Given the description of an element on the screen output the (x, y) to click on. 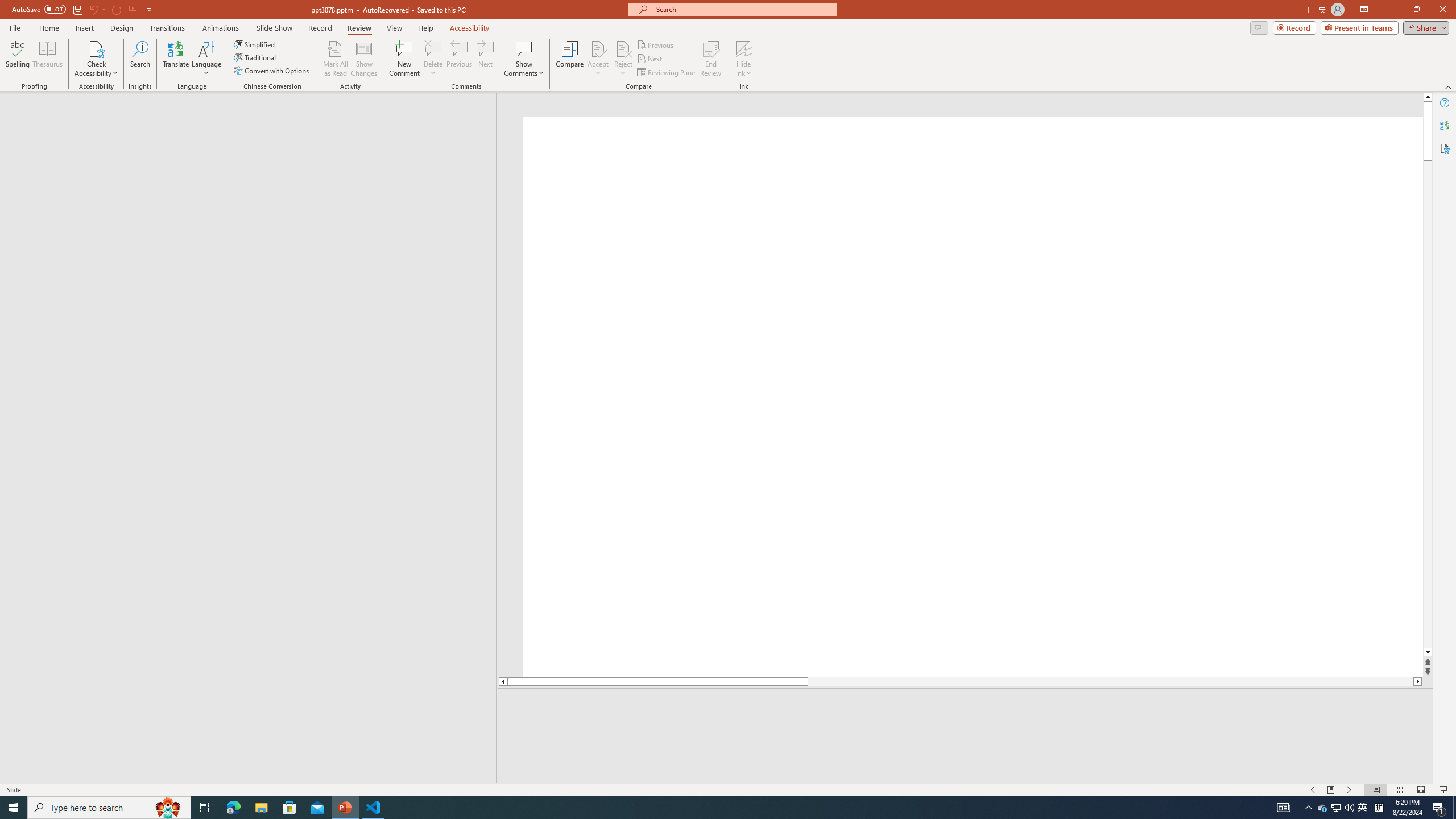
Menu On (1331, 790)
Slide Show Next On (1349, 790)
